Given the description of an element on the screen output the (x, y) to click on. 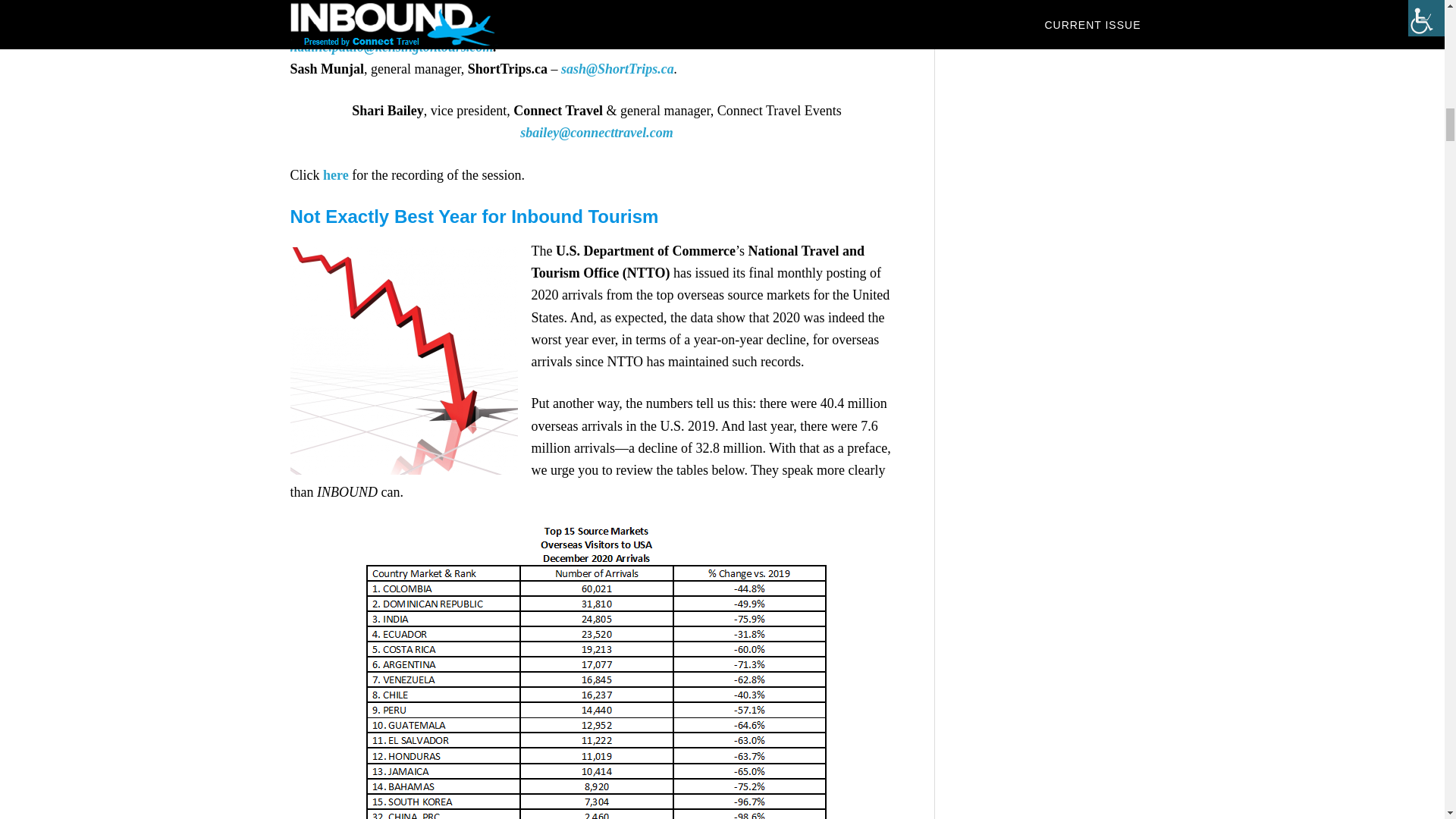
here (336, 174)
